Given the description of an element on the screen output the (x, y) to click on. 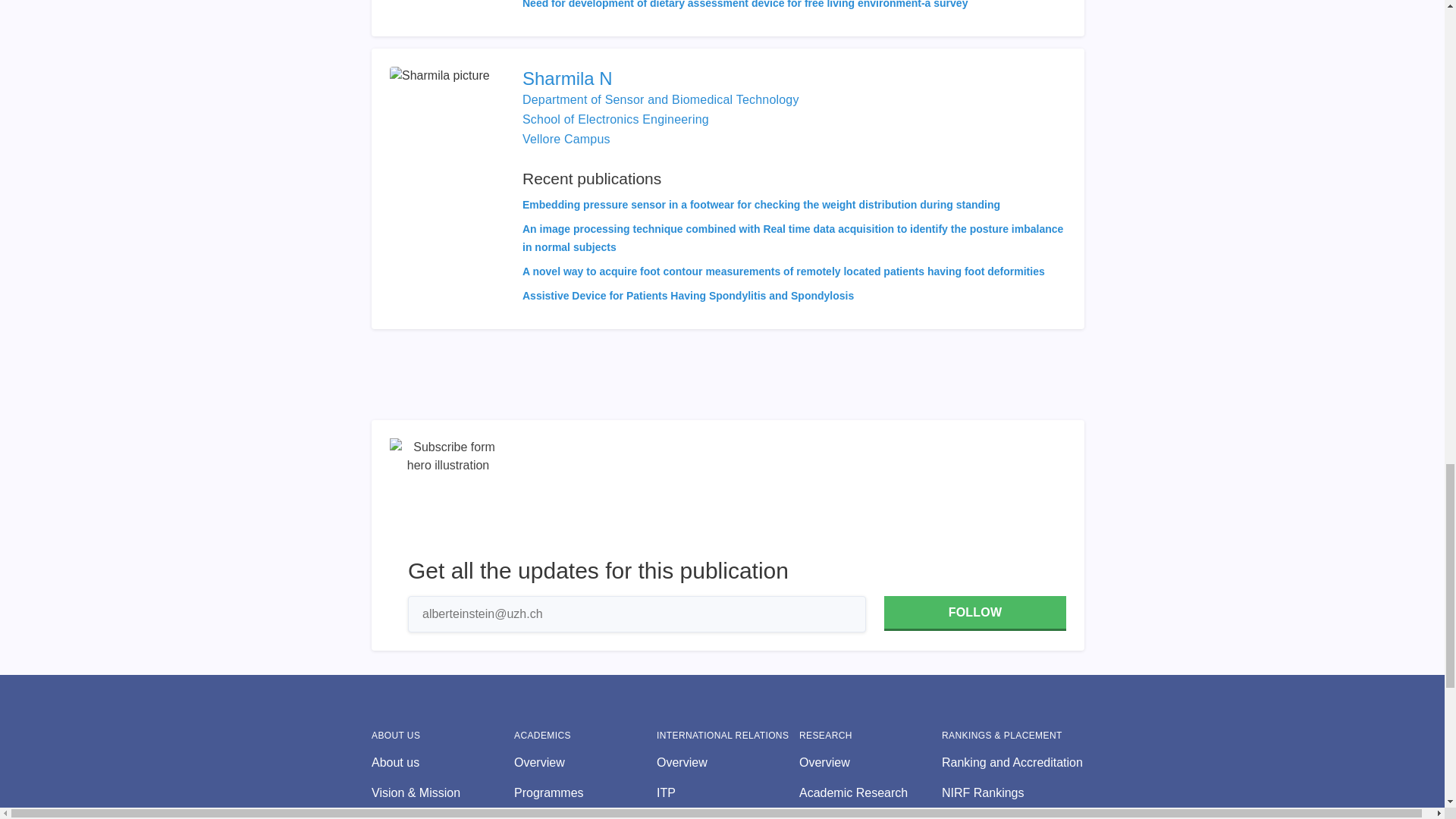
School of Electronics Engineering (615, 119)
Vellore Campus (566, 138)
FOLLOW (974, 613)
Department of Sensor and Biomedical Technology (660, 99)
About us (442, 762)
Sharmila N (793, 78)
